Given the description of an element on the screen output the (x, y) to click on. 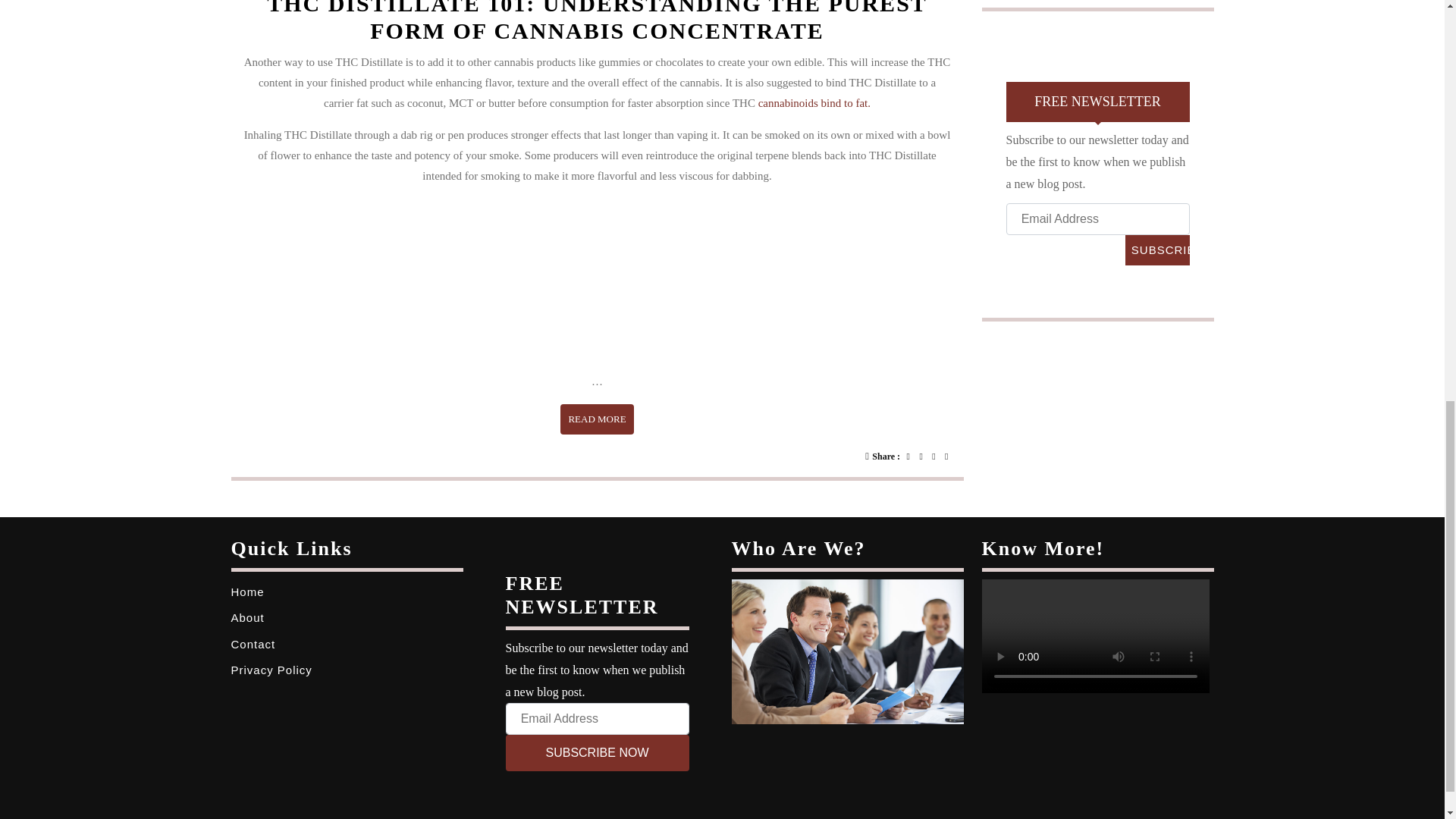
About (246, 617)
SUBSCRIBE NOW (596, 419)
cannabinoids bind to fat. (596, 752)
Home (814, 102)
SUBSCRIBE NOW (246, 591)
SUBSCRIBE NOW (1157, 250)
